Given the description of an element on the screen output the (x, y) to click on. 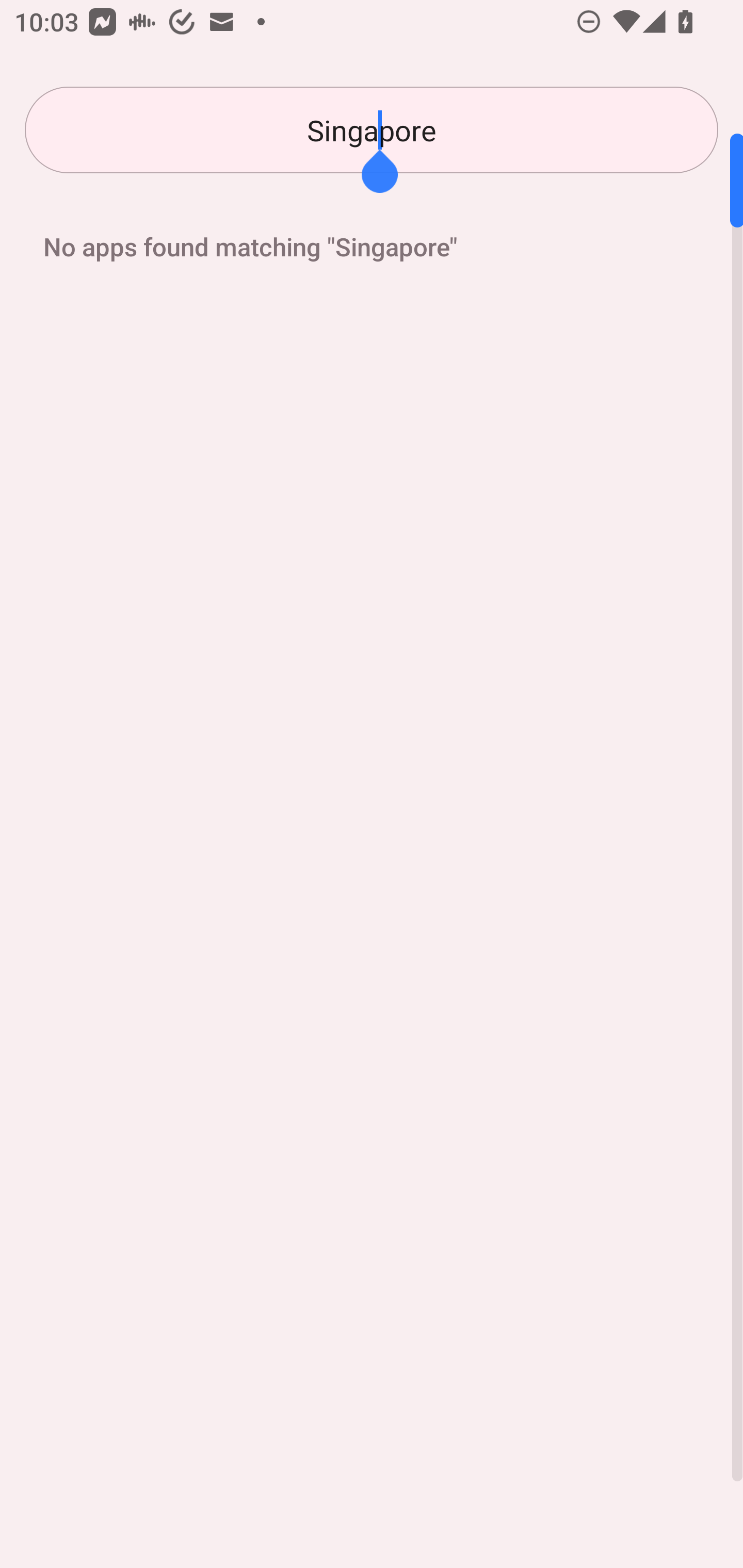
Singapore (371, 130)
